Given the description of an element on the screen output the (x, y) to click on. 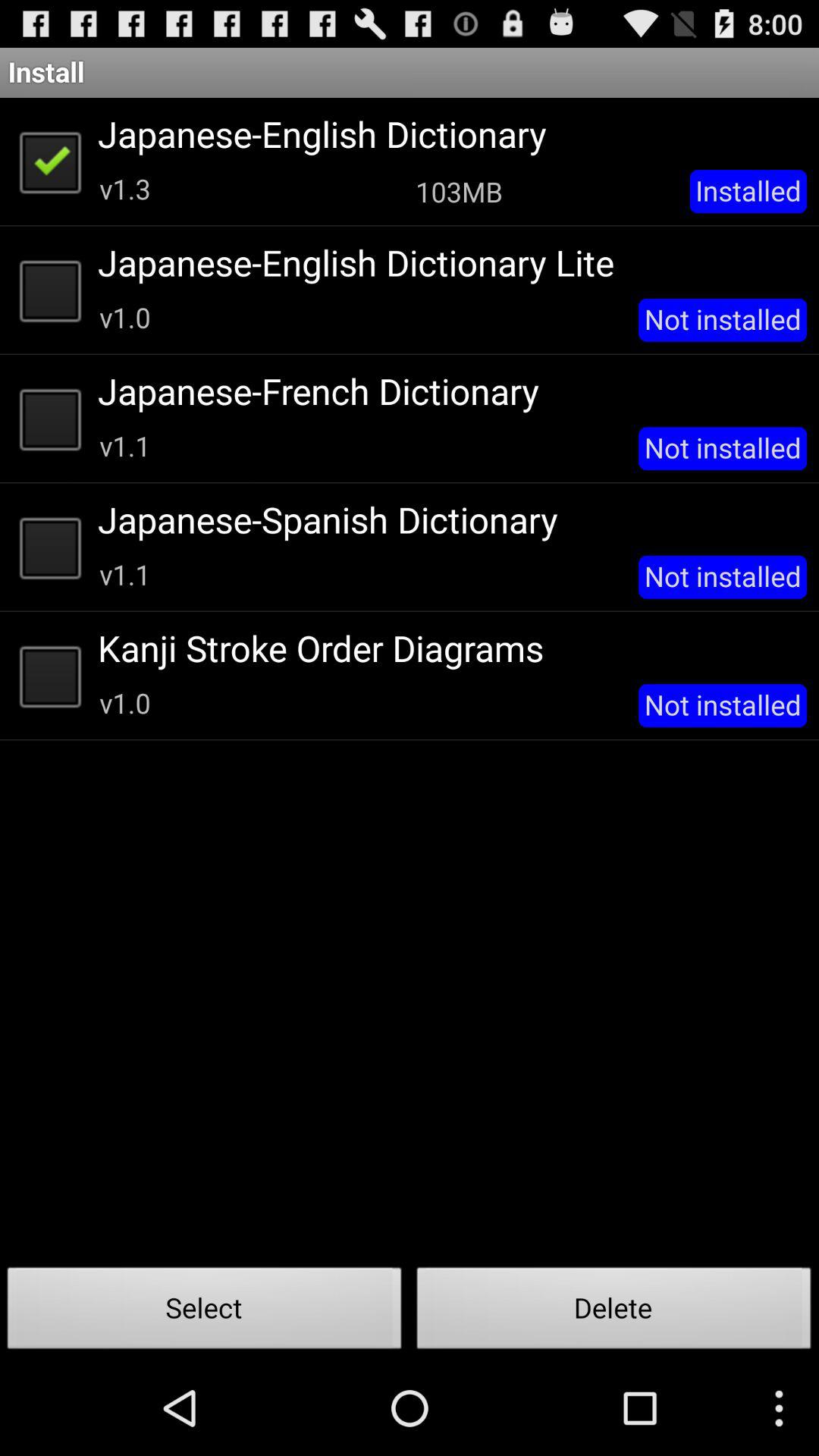
turn on the app to the right of v1.3 app (458, 191)
